Given the description of an element on the screen output the (x, y) to click on. 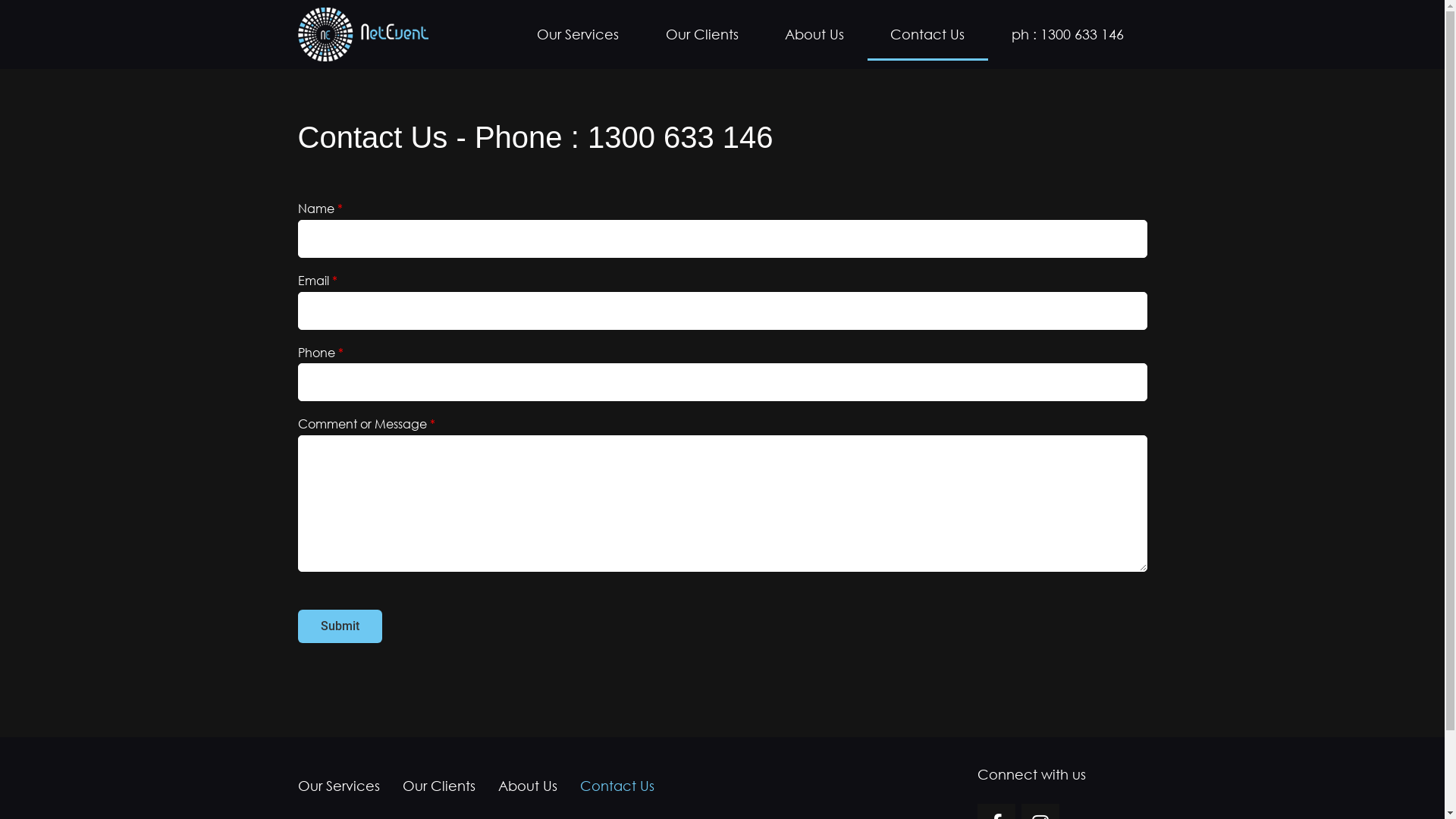
ph : 1300 633 146 Element type: text (1067, 33)
Our Clients Element type: text (701, 33)
Our Services Element type: text (343, 785)
Our Services Element type: text (578, 33)
About Us Element type: text (813, 33)
Our Clients Element type: text (438, 785)
Submit Element type: text (339, 626)
Contact Us Element type: text (616, 785)
About Us Element type: text (527, 785)
Contact Us Element type: text (927, 33)
